Given the description of an element on the screen output the (x, y) to click on. 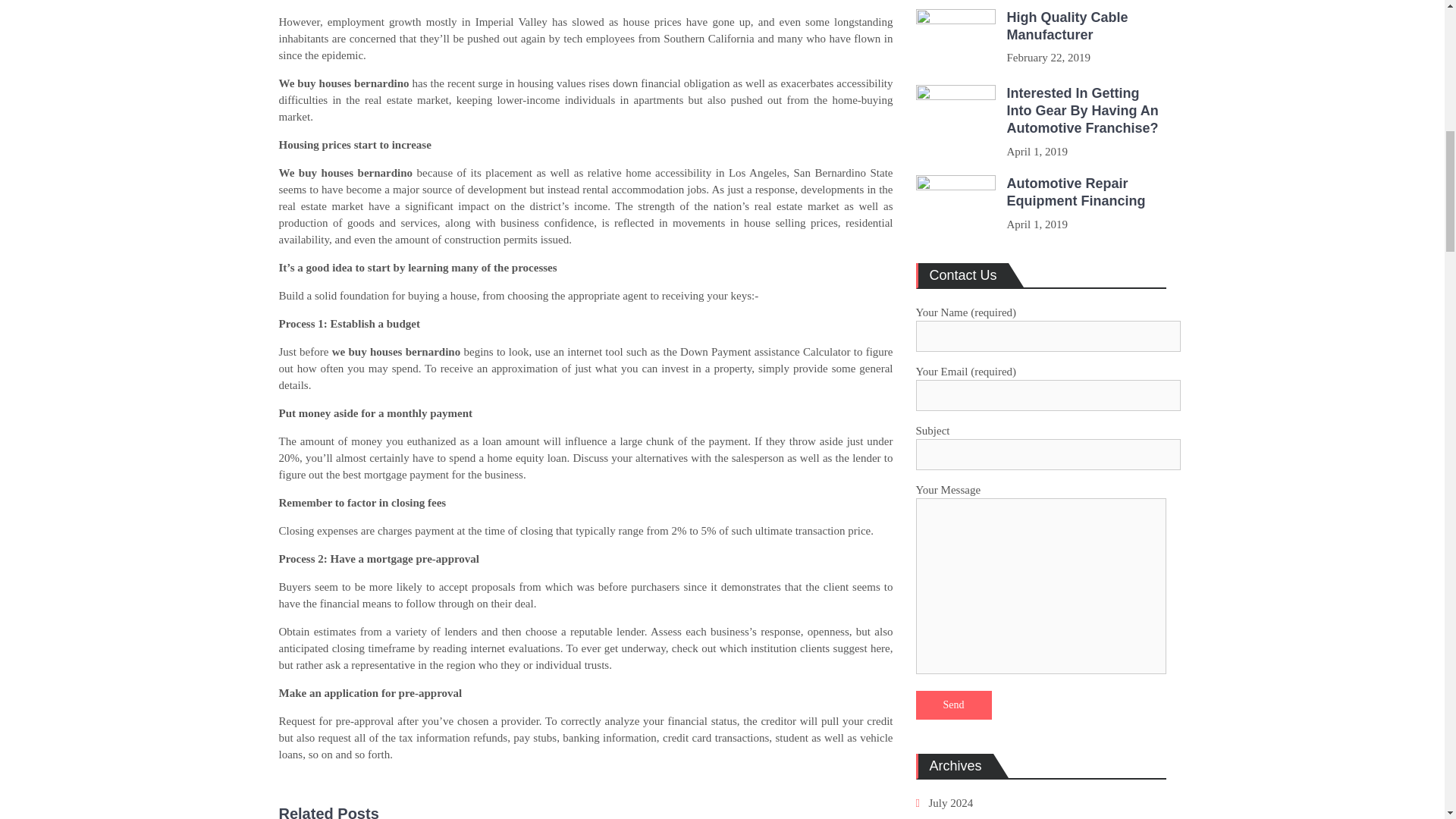
Send (953, 705)
